Given the description of an element on the screen output the (x, y) to click on. 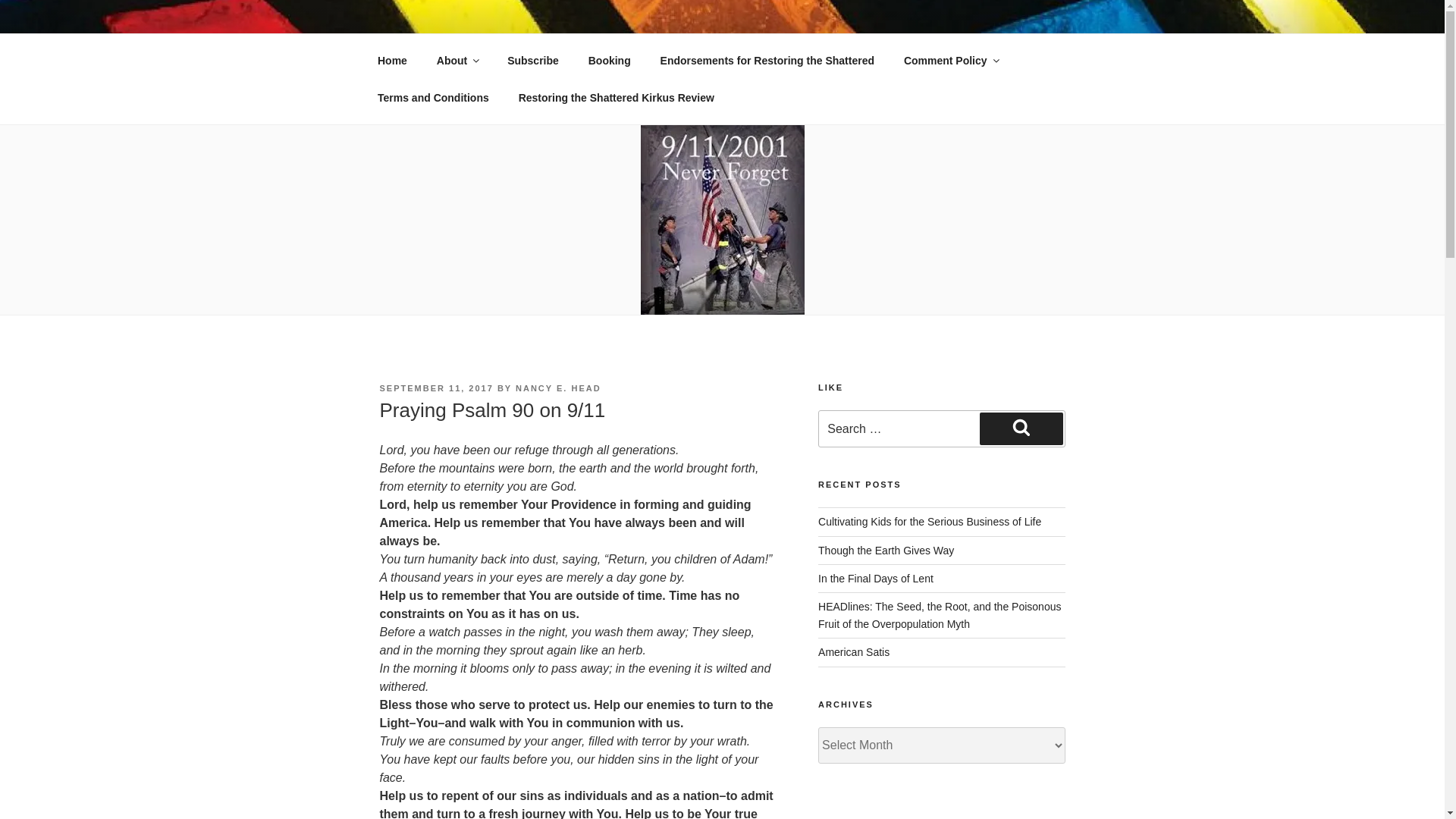
Subscribe (533, 60)
Restoring the Shattered Kirkus Review (615, 97)
NANCY E. HEAD (500, 52)
Comment Policy (949, 60)
Booking (609, 60)
Search (1020, 428)
In the Final Days of Lent (875, 578)
Home (392, 60)
NANCY E. HEAD (558, 388)
About (456, 60)
Terms and Conditions (433, 97)
Cultivating Kids for the Serious Business of Life (929, 521)
Endorsements for Restoring the Shattered (766, 60)
Though the Earth Gives Way (885, 550)
